Given the description of an element on the screen output the (x, y) to click on. 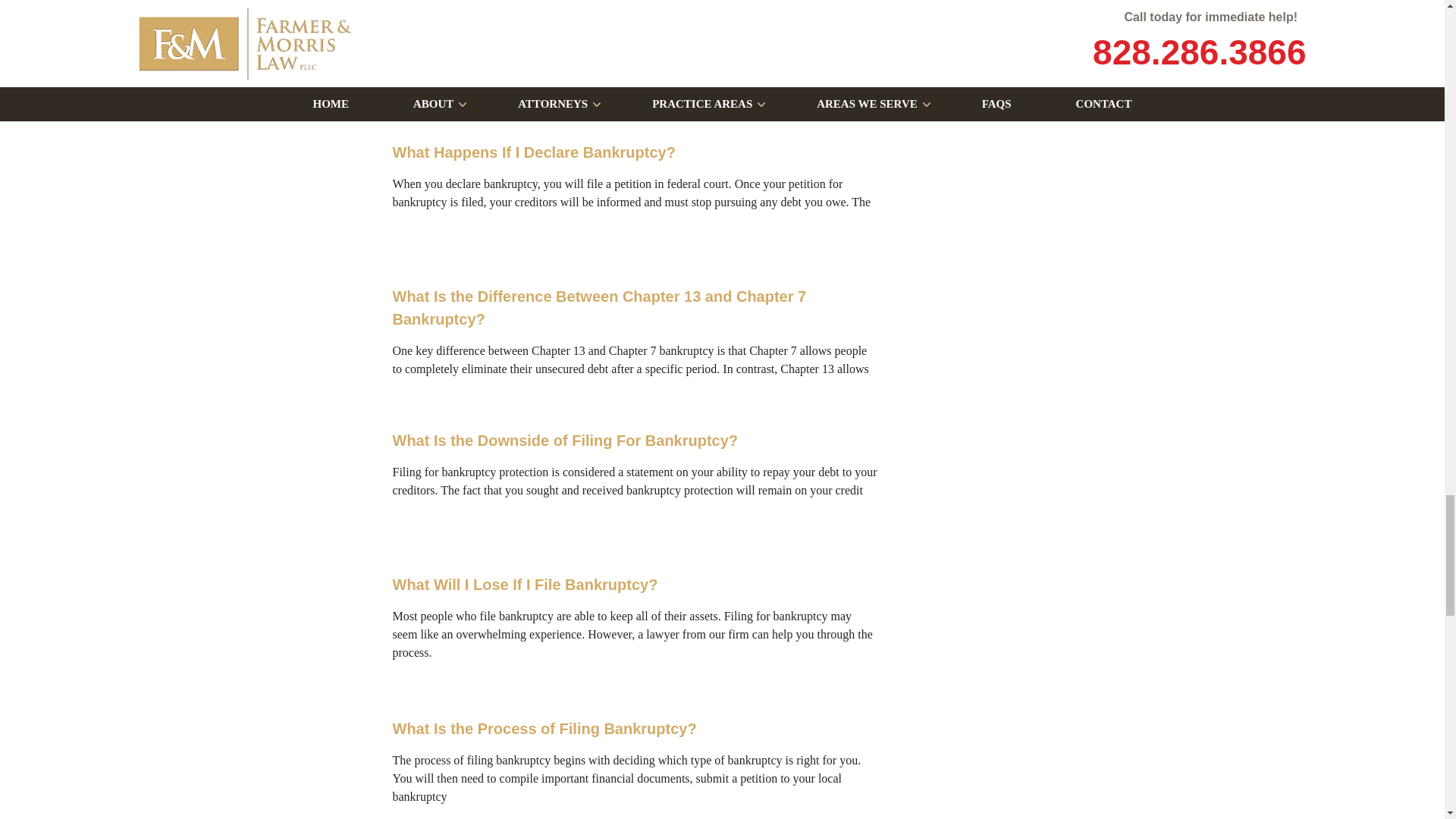
How Much Do You Have to Be In Debt to File Chapter 7? (304, 55)
What Is the Downside of Filing For Bankruptcy? (304, 485)
What Is the Process of Filing Bankruptcy? (304, 768)
What Will I Lose If I File Bankruptcy? (304, 630)
What Happens If I Declare Bankruptcy? (304, 197)
